Given the description of an element on the screen output the (x, y) to click on. 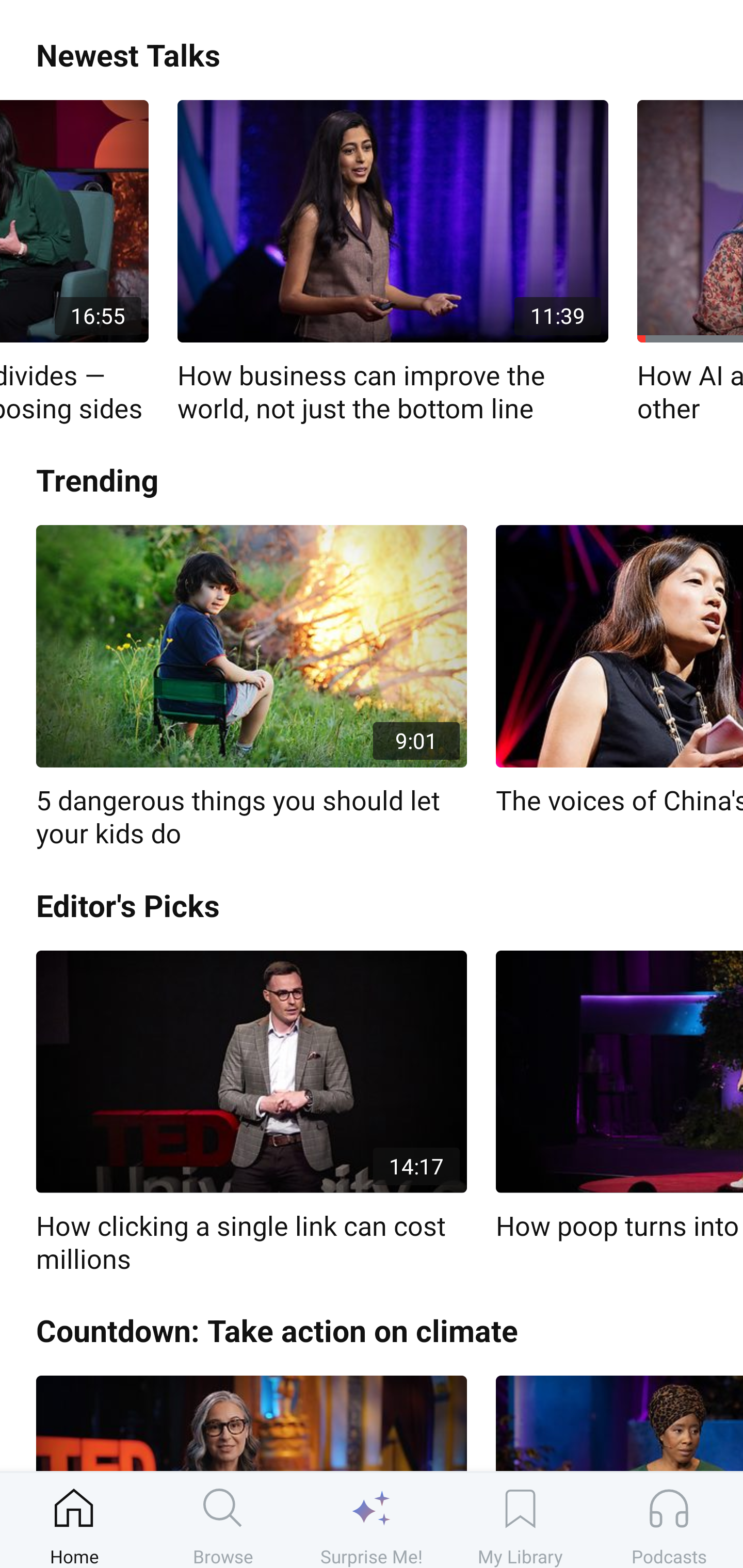
The voices of China's workers (619, 671)
14:17 How clicking a single link can cost millions (251, 1113)
How poop turns into forests (619, 1096)
Home (74, 1520)
Browse (222, 1520)
Surprise Me! (371, 1520)
My Library (519, 1520)
Podcasts (668, 1520)
